Given the description of an element on the screen output the (x, y) to click on. 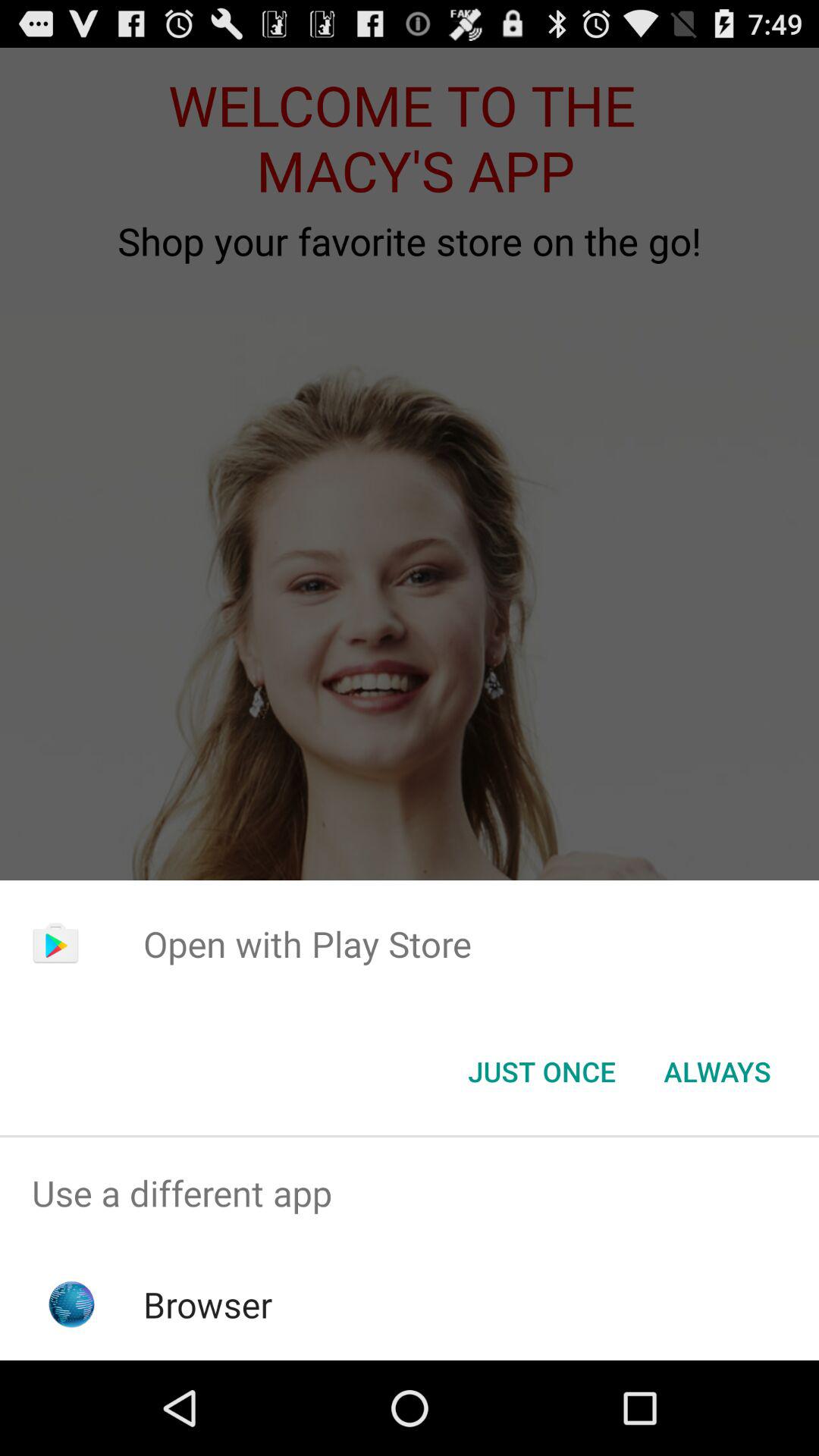
turn off just once icon (541, 1071)
